Given the description of an element on the screen output the (x, y) to click on. 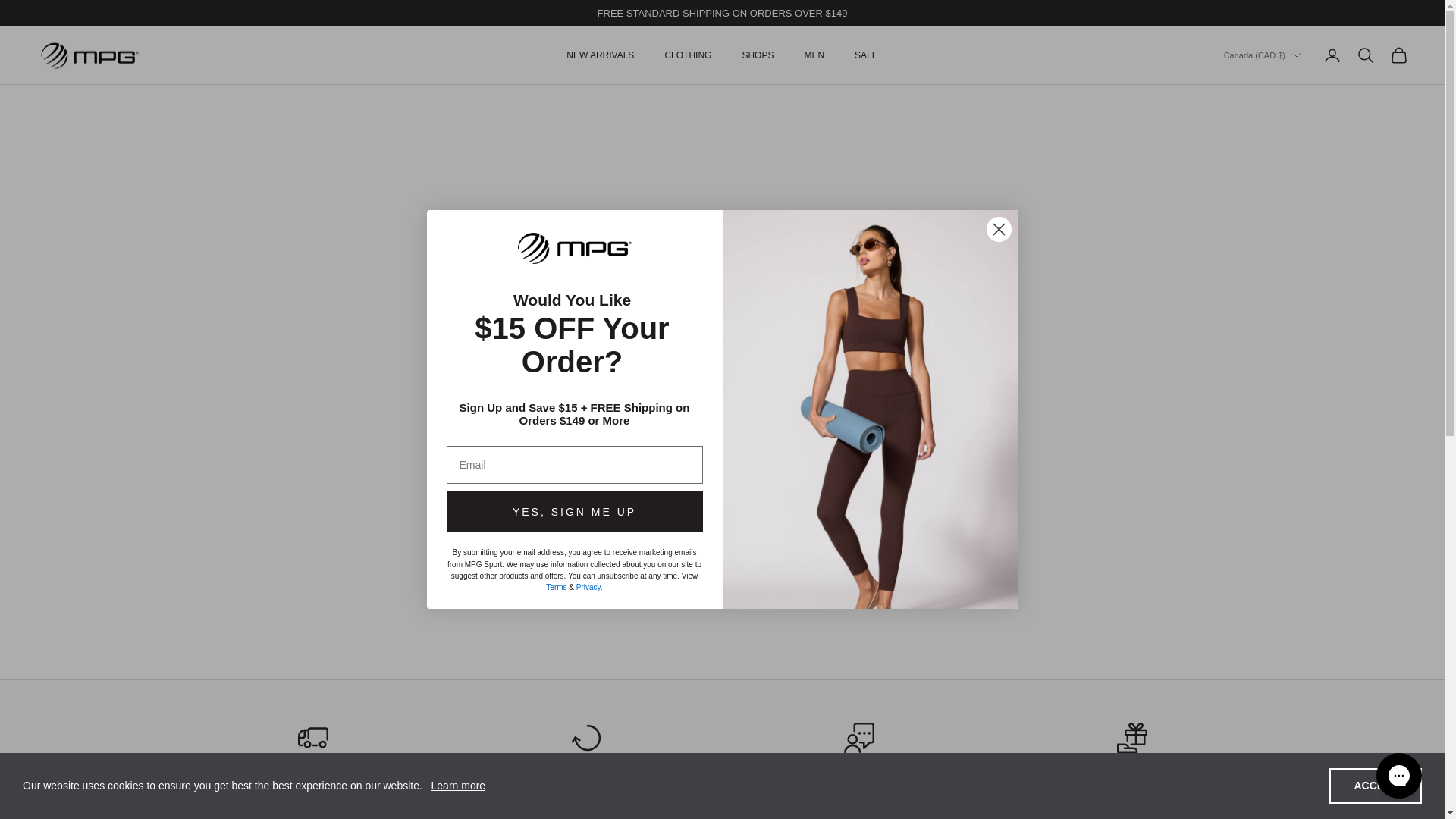
Gorgias live chat messenger (1398, 775)
NEW ARRIVALS (599, 55)
MPG Sport (89, 55)
